Given the description of an element on the screen output the (x, y) to click on. 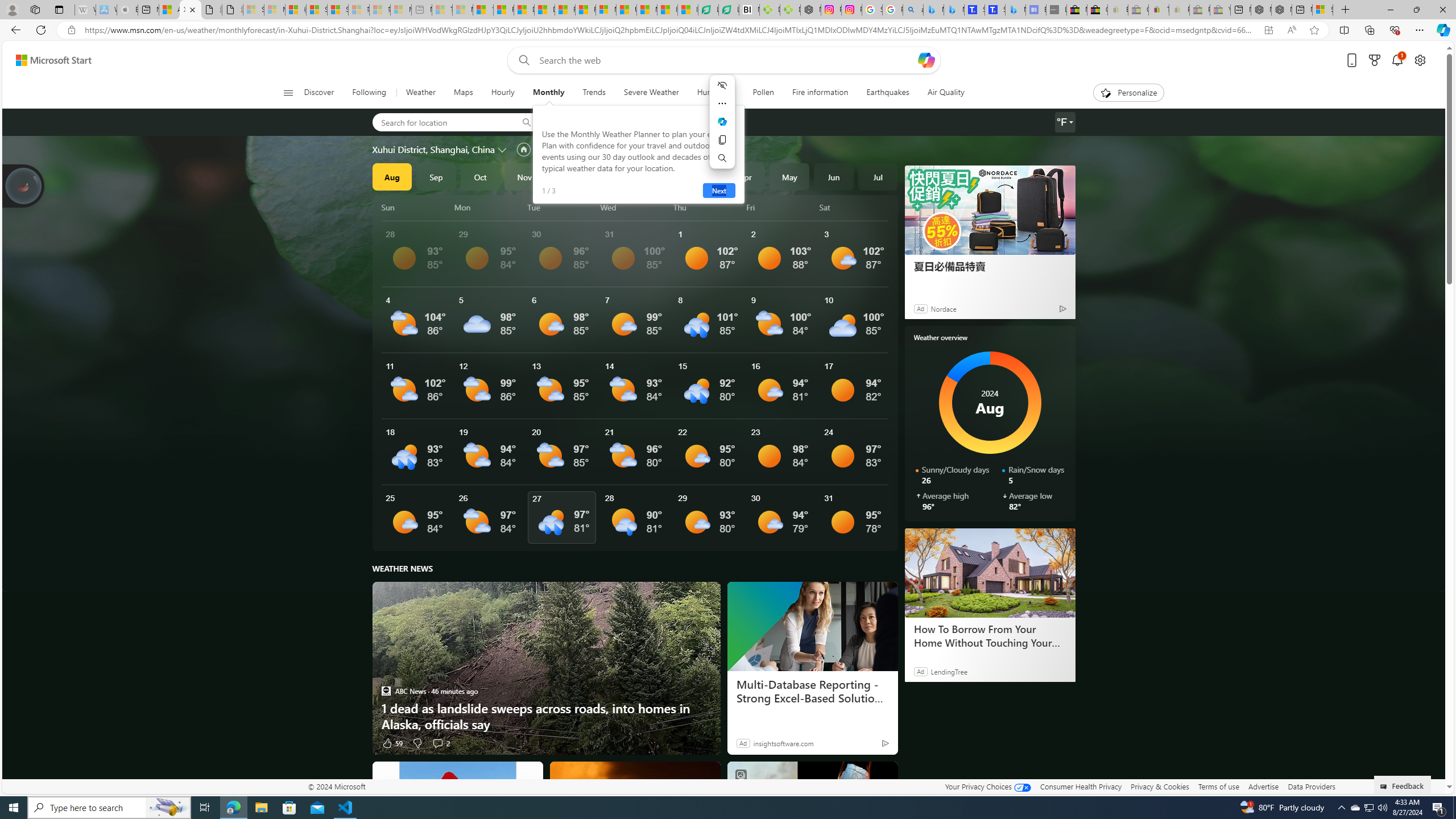
Jul (877, 176)
Feb (657, 176)
Your Privacy Choices (987, 785)
Severe Weather (651, 92)
Ad Choice (884, 743)
Search for location (440, 122)
Class: button-glyph (287, 92)
